Given the description of an element on the screen output the (x, y) to click on. 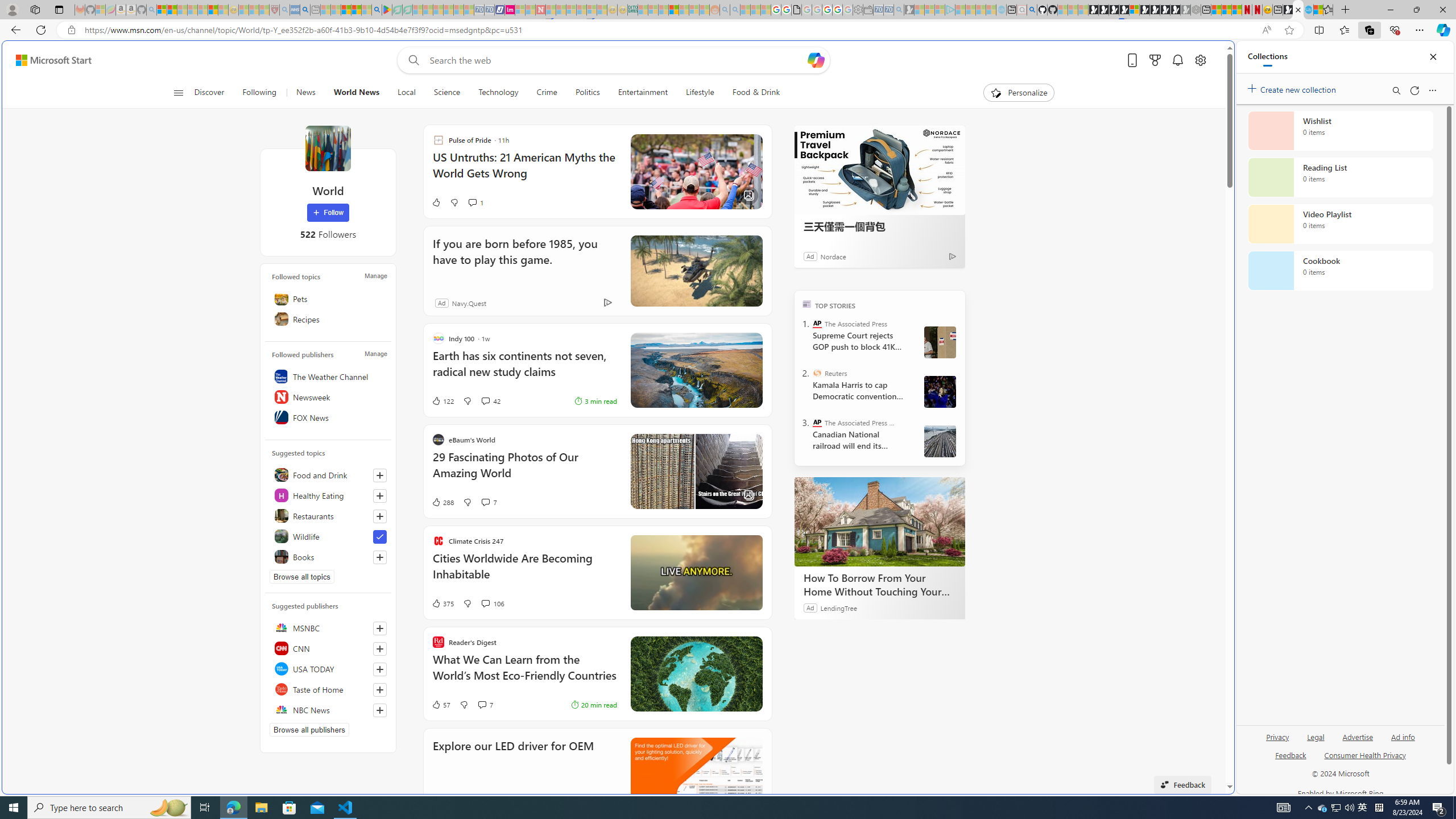
 Harris and Walz campaign in Wisconsin (940, 391)
Search or enter web address (922, 108)
Explore our LED driver for OEM (696, 773)
